Given the description of an element on the screen output the (x, y) to click on. 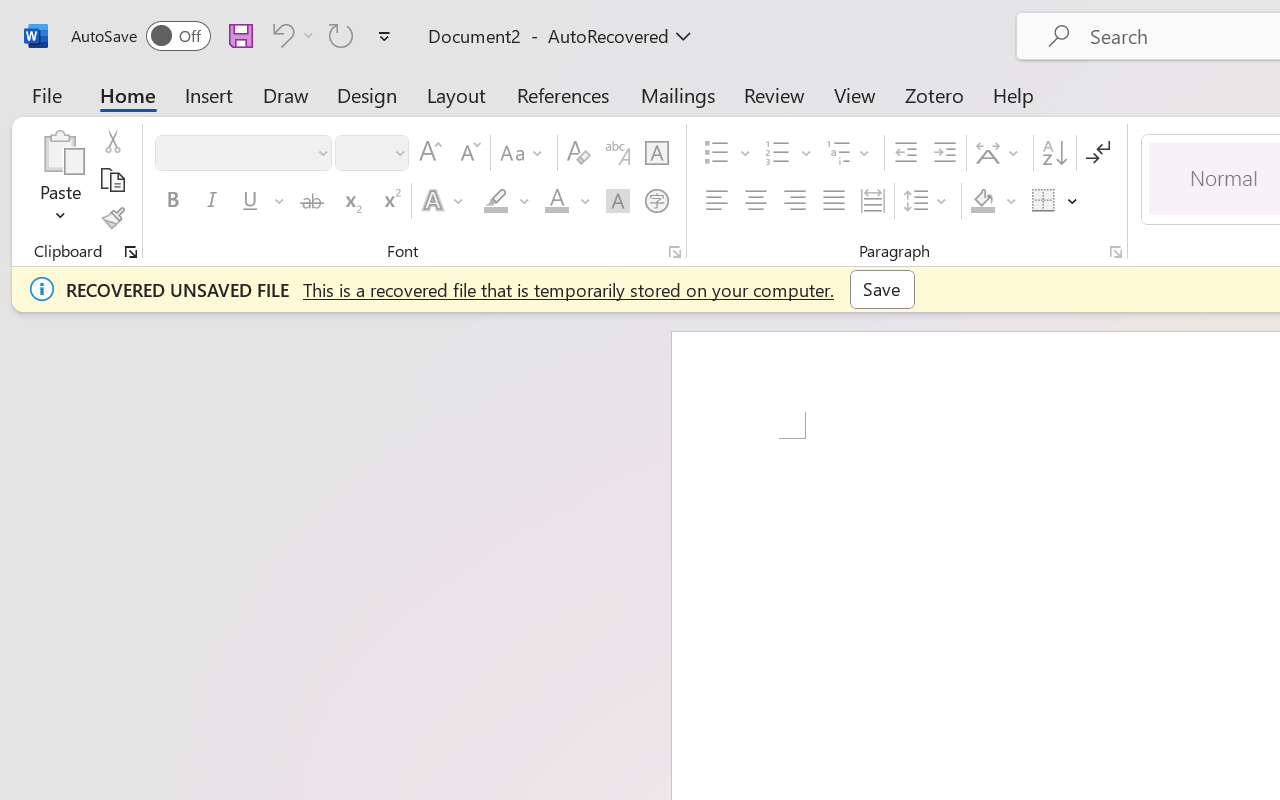
Shading (993, 201)
Font Color RGB(255, 0, 0) (556, 201)
Increase Indent (944, 153)
Justify (834, 201)
Text Effects and Typography (444, 201)
Can't Undo (280, 35)
Grow Font (430, 153)
